Given the description of an element on the screen output the (x, y) to click on. 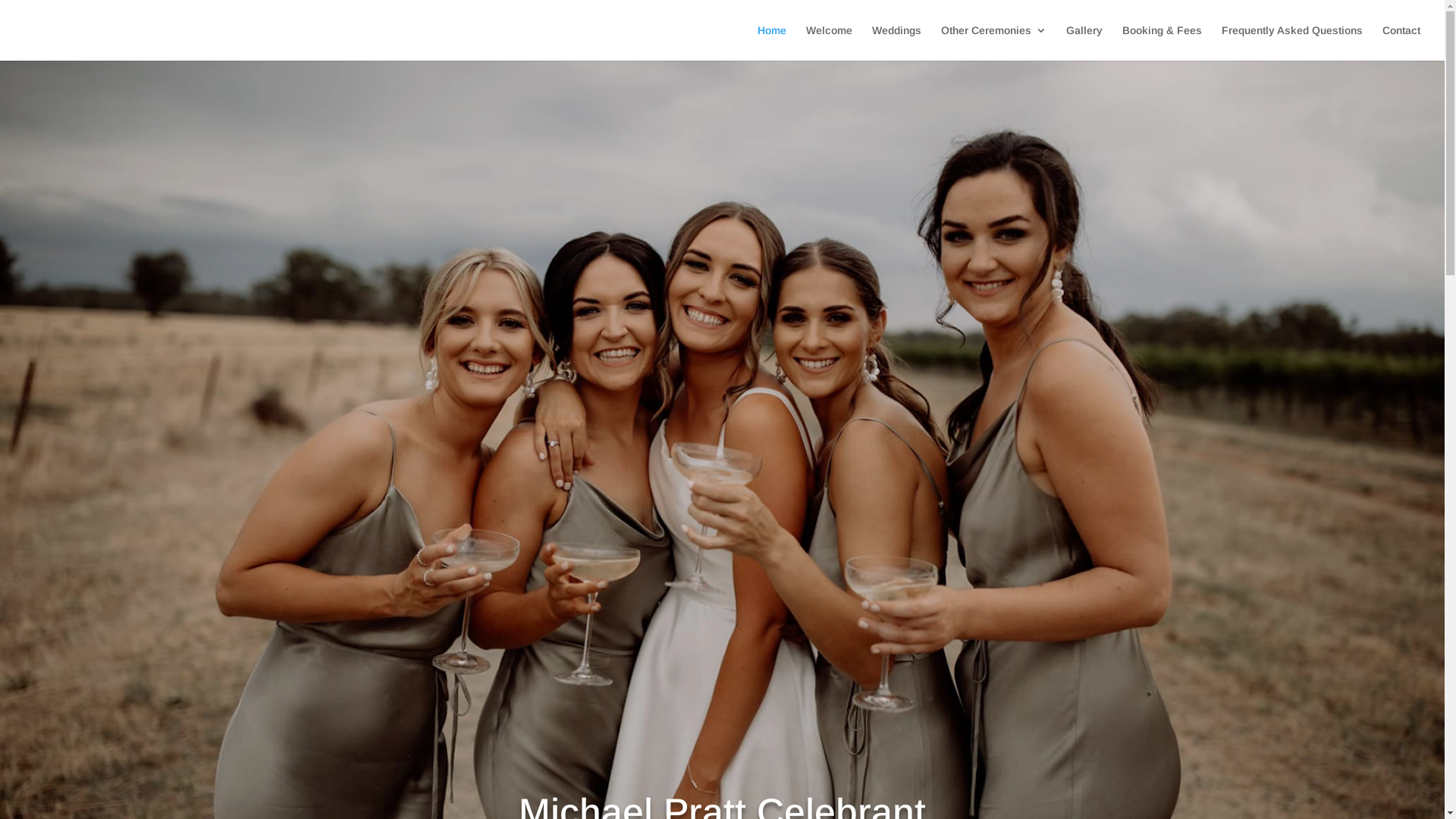
Frequently Asked Questions Element type: text (1291, 42)
Gallery Element type: text (1084, 42)
Home Element type: text (771, 42)
Weddings Element type: text (896, 42)
Contact Element type: text (1401, 42)
Welcome Element type: text (829, 42)
Booking & Fees Element type: text (1161, 42)
Other Ceremonies Element type: text (993, 42)
